Given the description of an element on the screen output the (x, y) to click on. 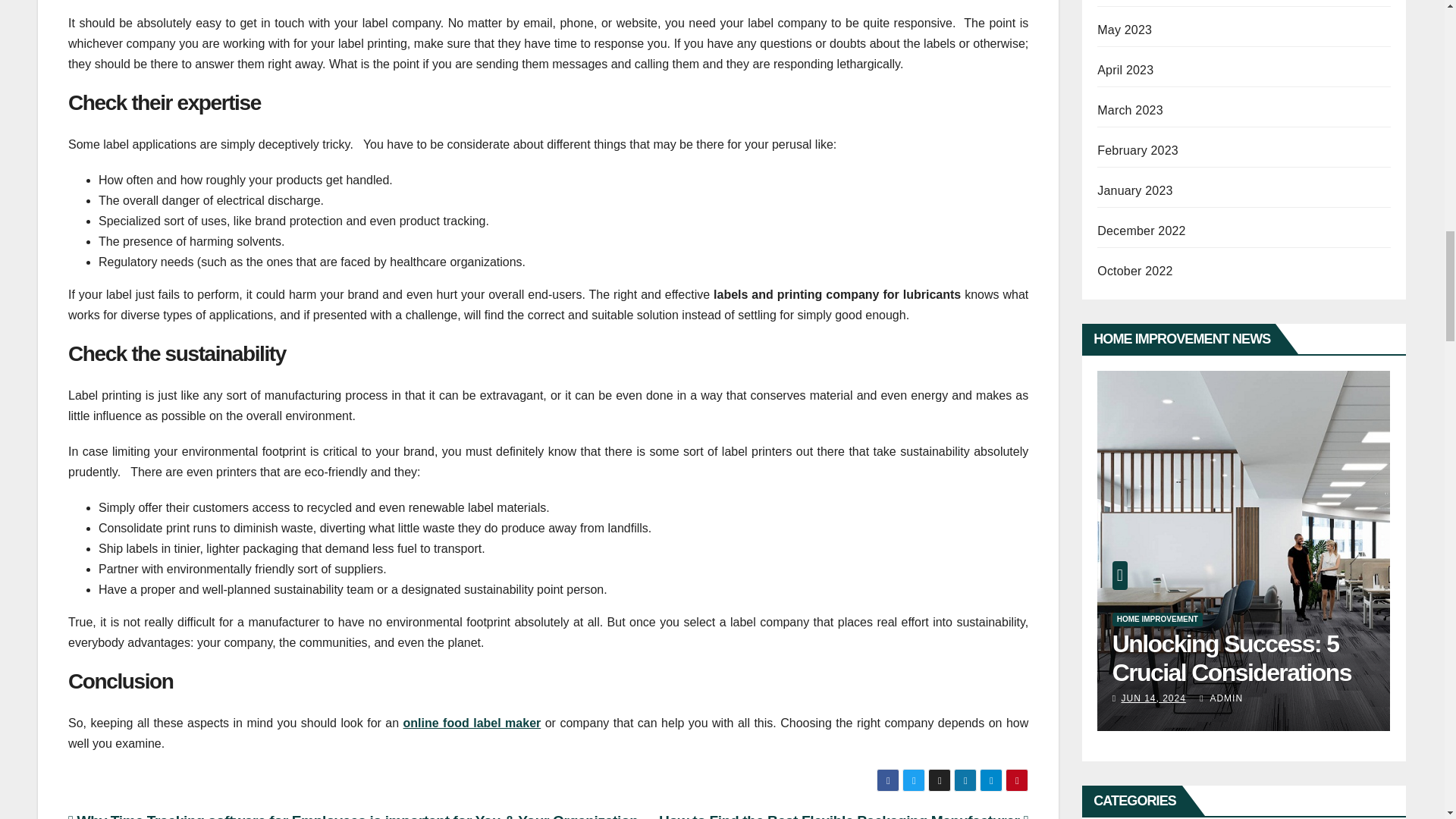
online food label maker (472, 722)
